Given the description of an element on the screen output the (x, y) to click on. 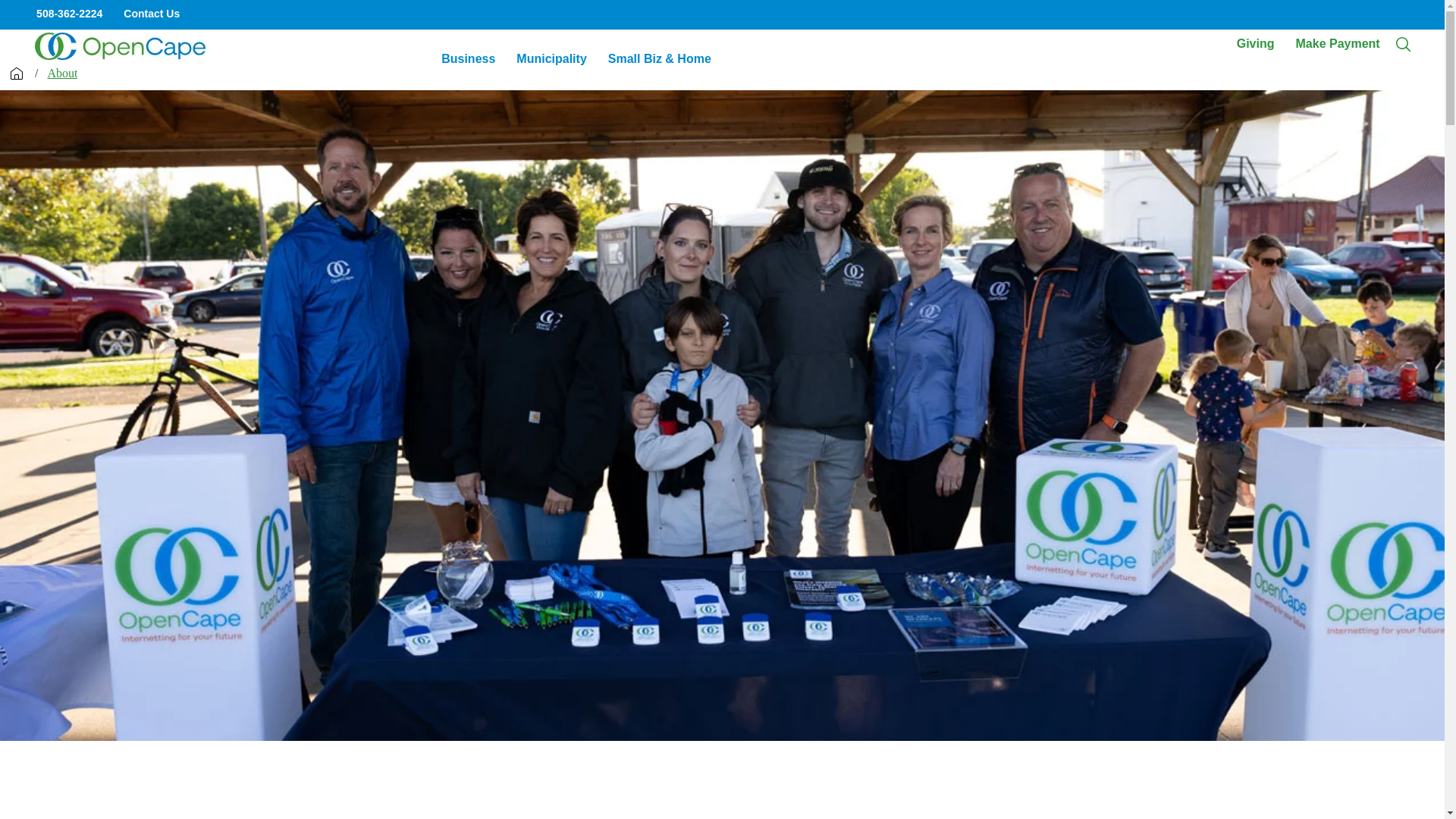
Make Payment (1337, 43)
Giving (1255, 43)
Contact Us (1235, 43)
About (151, 13)
Business (61, 72)
Municipality (467, 59)
508-362-2224 (551, 59)
